Given the description of an element on the screen output the (x, y) to click on. 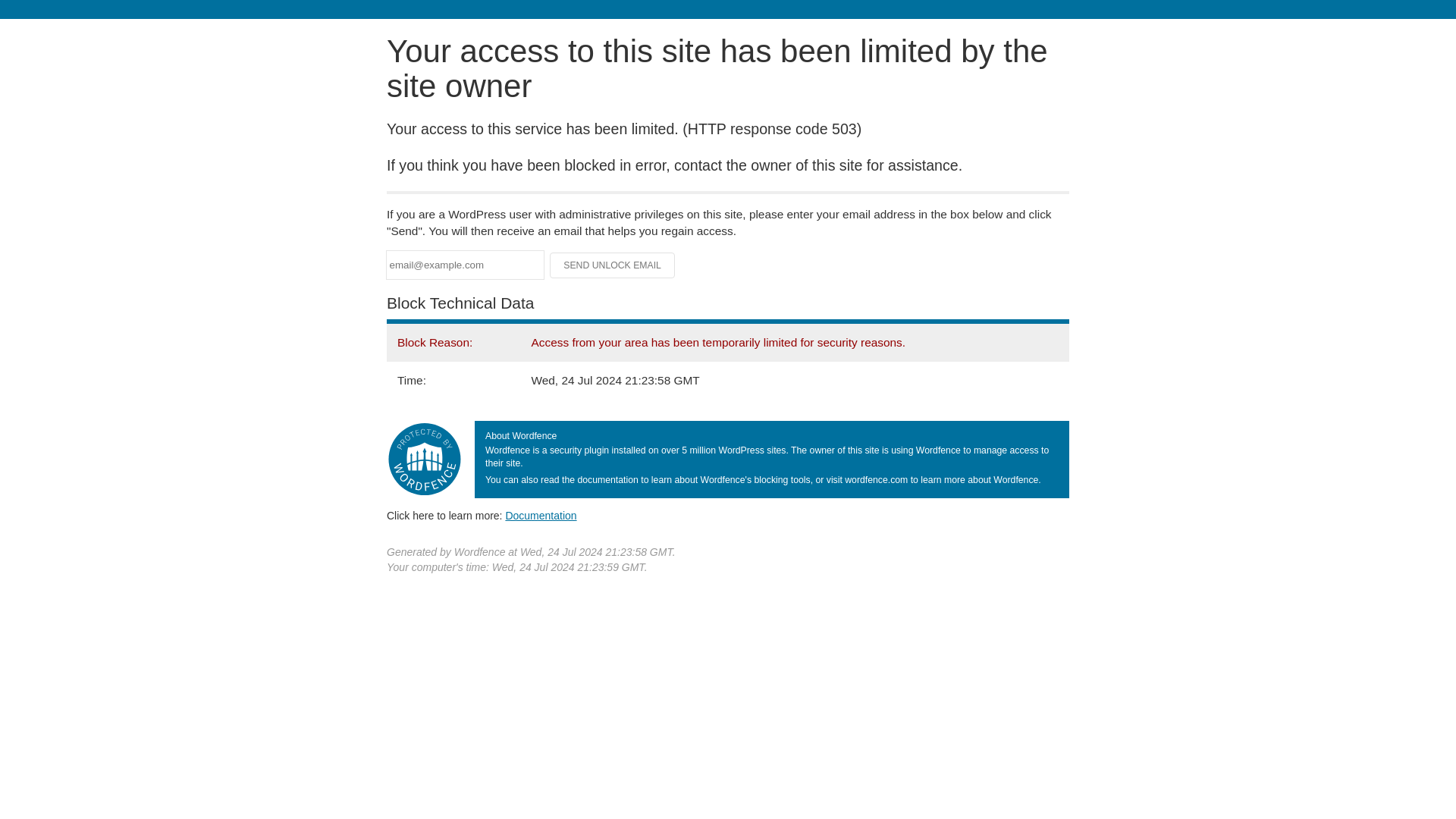
Send Unlock Email (612, 265)
Documentation (540, 515)
Send Unlock Email (612, 265)
